Given the description of an element on the screen output the (x, y) to click on. 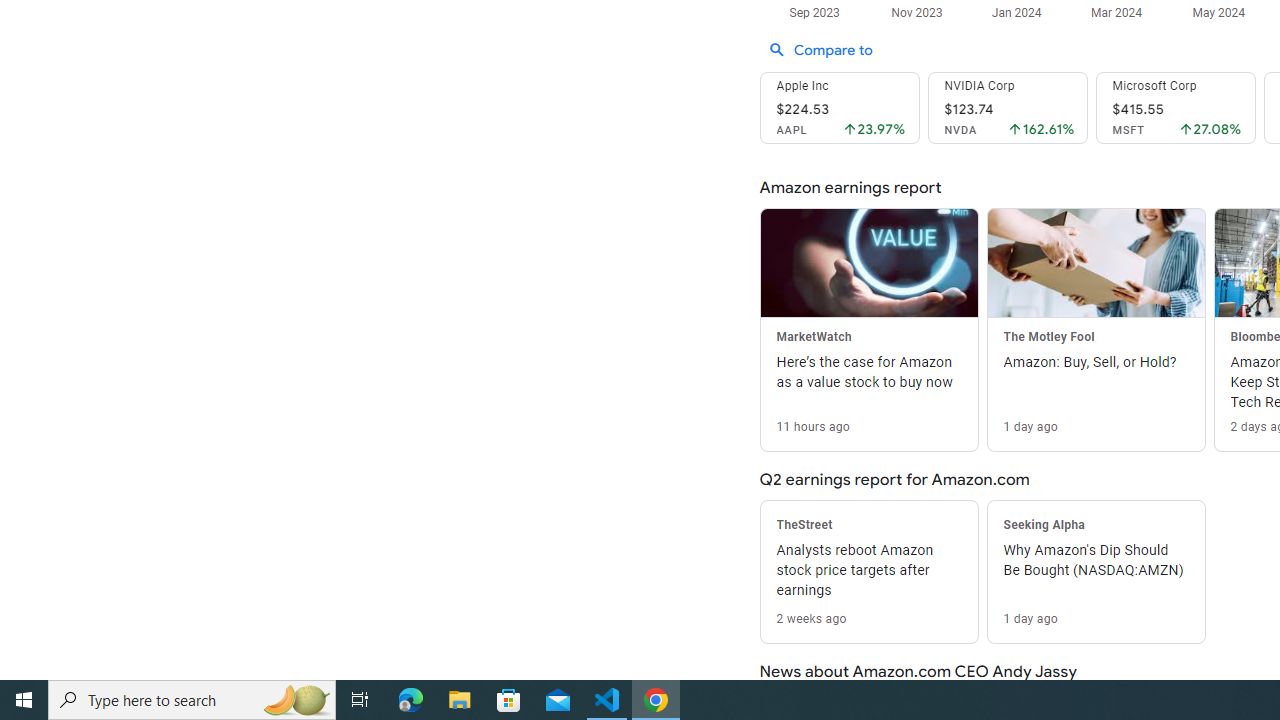
The Motley Fool Amazon: Buy, Sell, or Hold? 1 day ago (1095, 329)
